Given the description of an element on the screen output the (x, y) to click on. 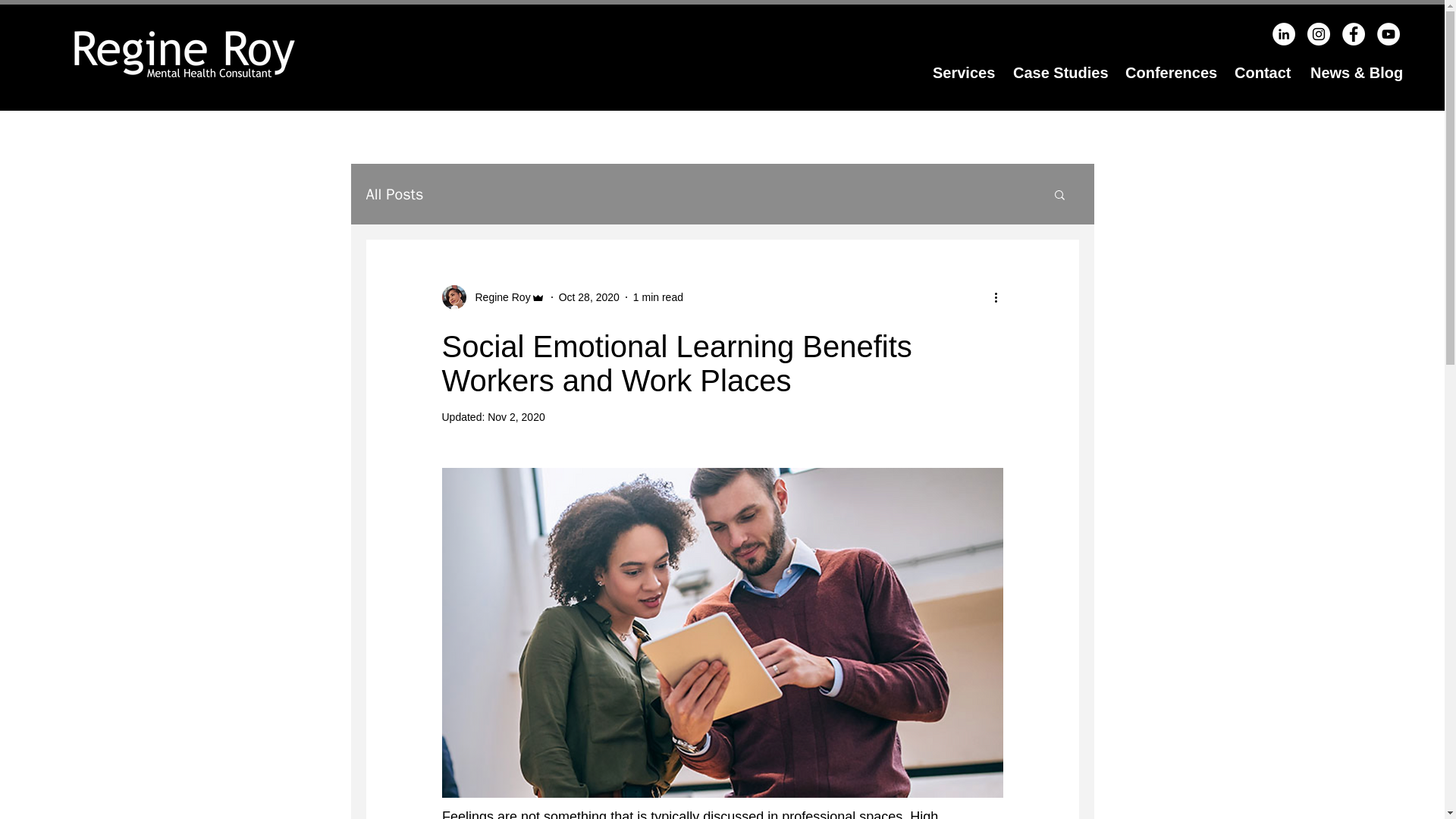
Regine Roy (497, 297)
All Posts (394, 193)
Nov 2, 2020 (515, 417)
Oct 28, 2020 (589, 297)
Services (961, 72)
Case Studies (1057, 72)
Contact (1260, 72)
1 min read (657, 297)
Conferences (1168, 72)
